Given the description of an element on the screen output the (x, y) to click on. 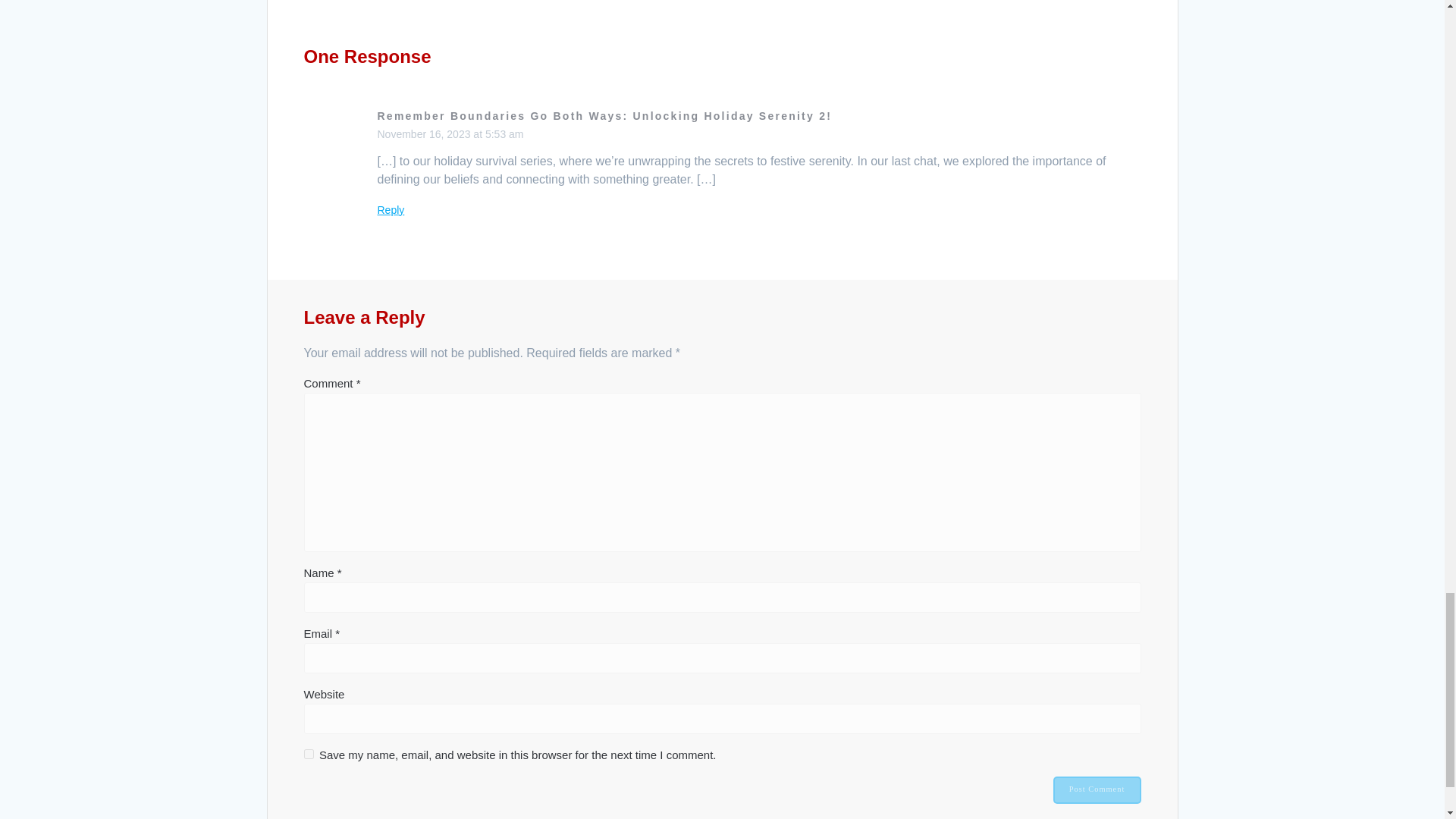
November 16, 2023 at 5:53 am (450, 133)
yes (307, 754)
Post Comment (1096, 789)
Post Comment (1096, 789)
Reply (390, 209)
